Given the description of an element on the screen output the (x, y) to click on. 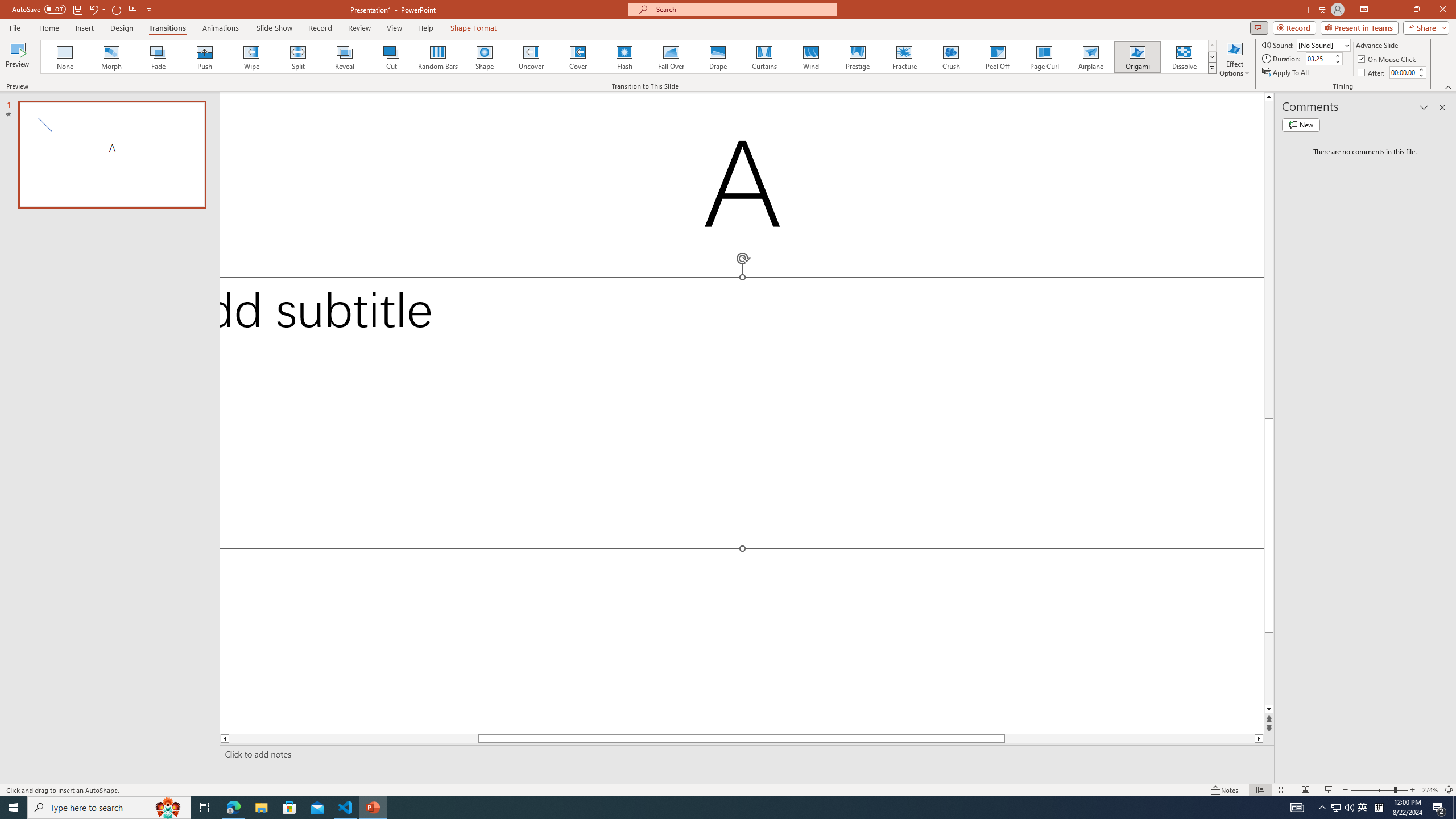
After (1372, 72)
Wind (810, 56)
Peel Off (997, 56)
Origami (1136, 56)
Dissolve (1183, 56)
After (1403, 72)
Page Curl (1043, 56)
